Given the description of an element on the screen output the (x, y) to click on. 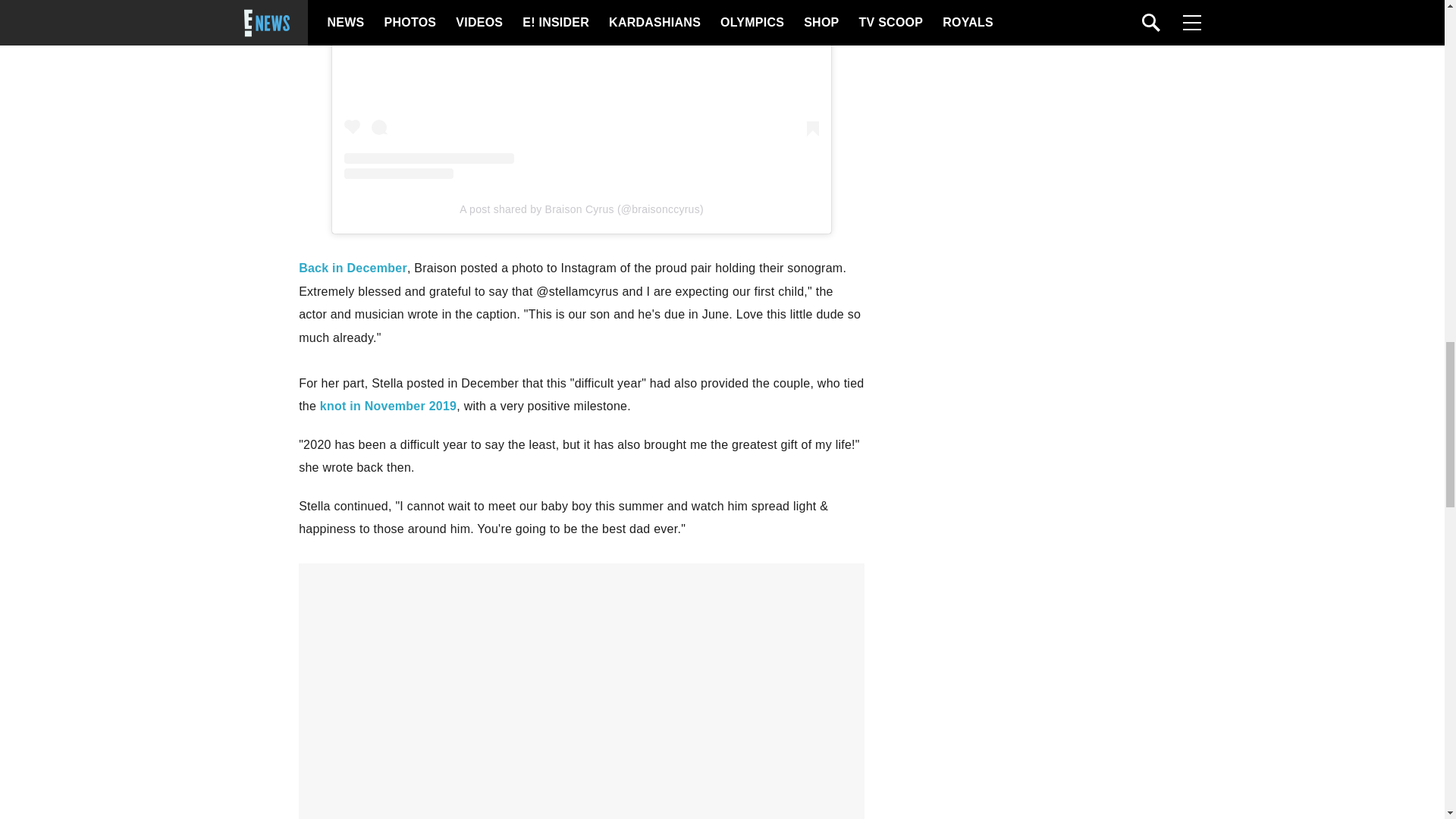
View this post on Instagram (580, 89)
Back in December (352, 267)
knot in November 2019 (388, 405)
